Given the description of an element on the screen output the (x, y) to click on. 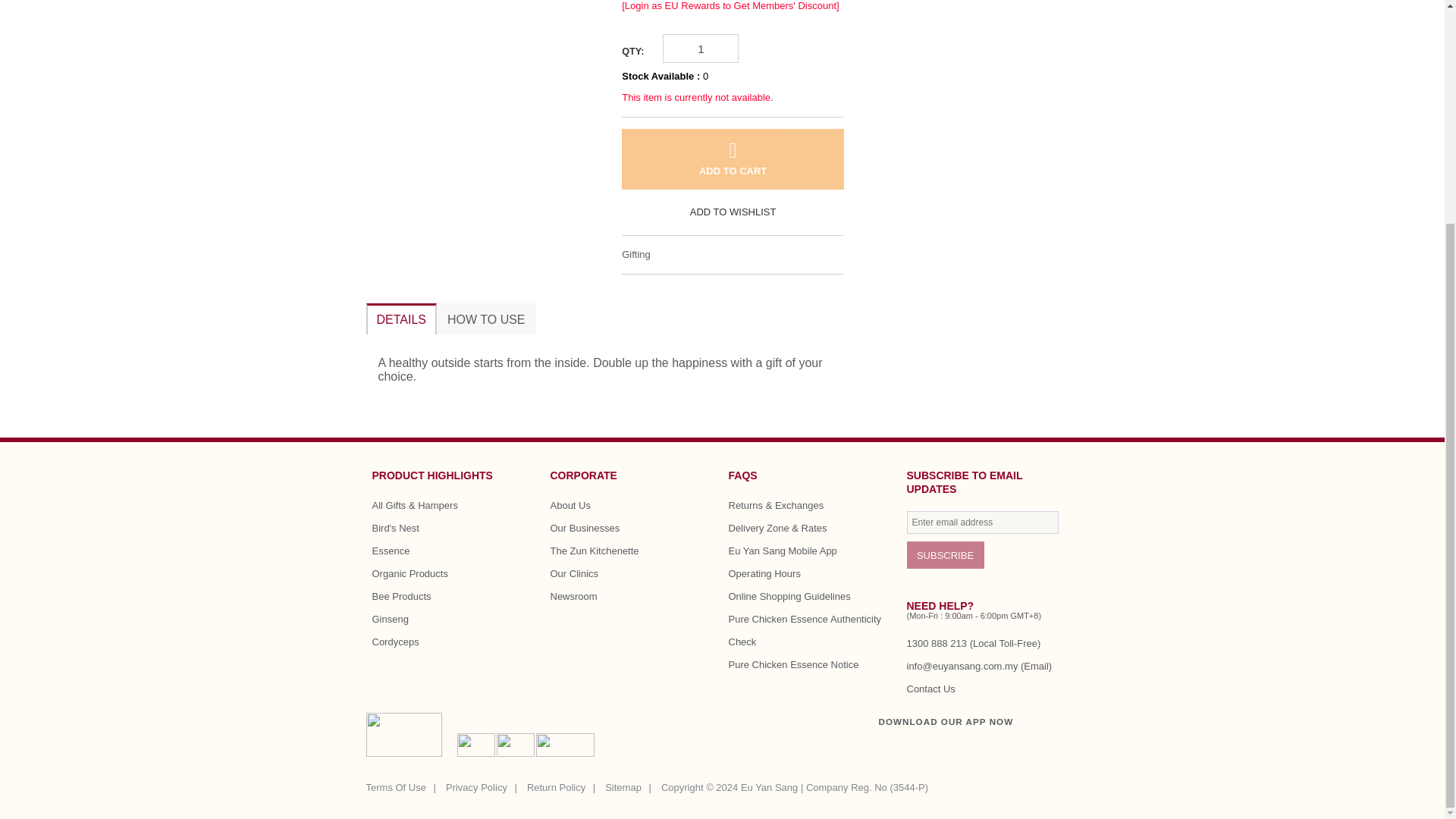
1 (700, 48)
SUBSCRIBE (945, 554)
